Given the description of an element on the screen output the (x, y) to click on. 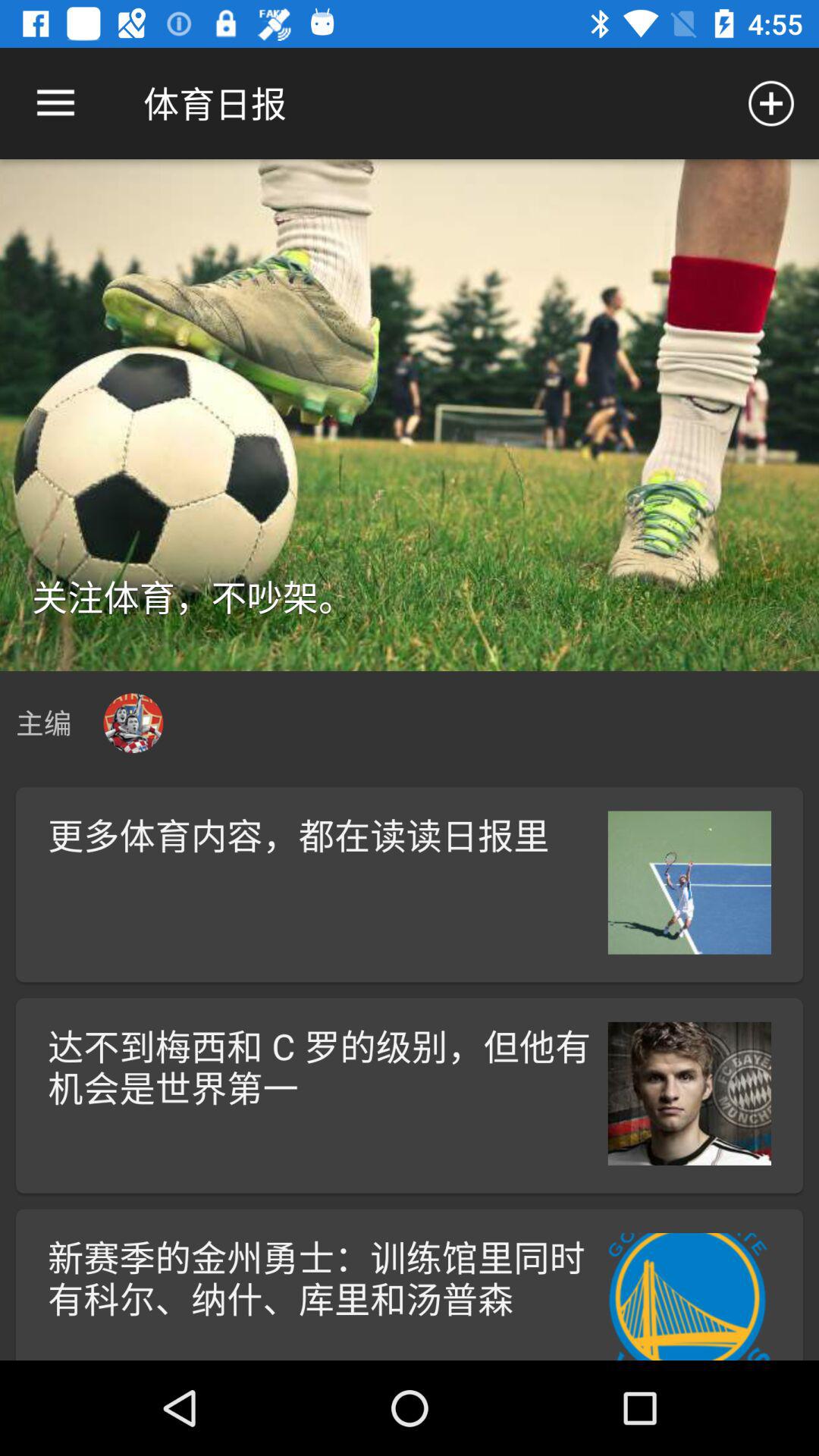
click the item at the top right corner (771, 103)
